Given the description of an element on the screen output the (x, y) to click on. 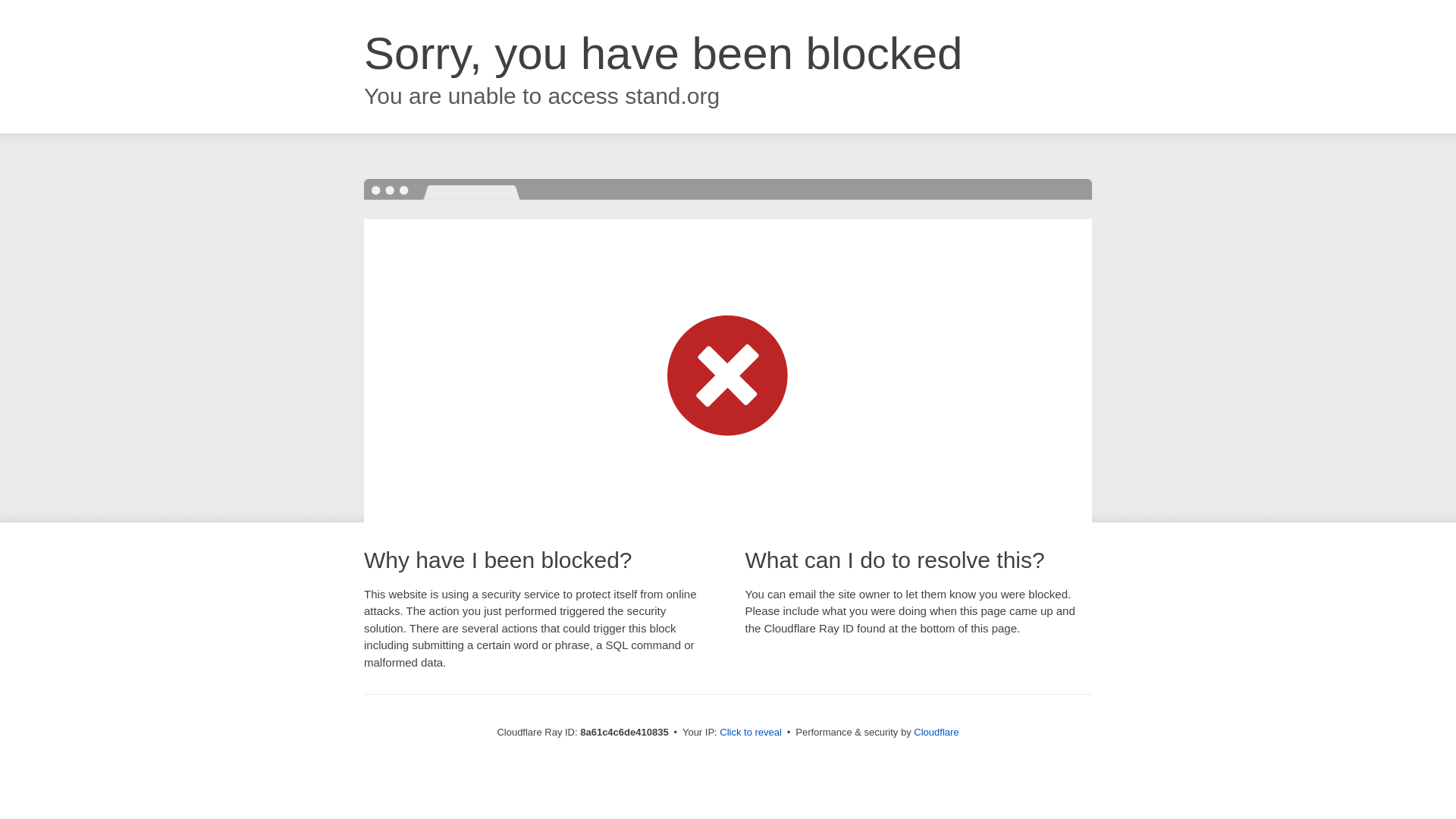
Cloudflare (936, 731)
Click to reveal (750, 732)
